Given the description of an element on the screen output the (x, y) to click on. 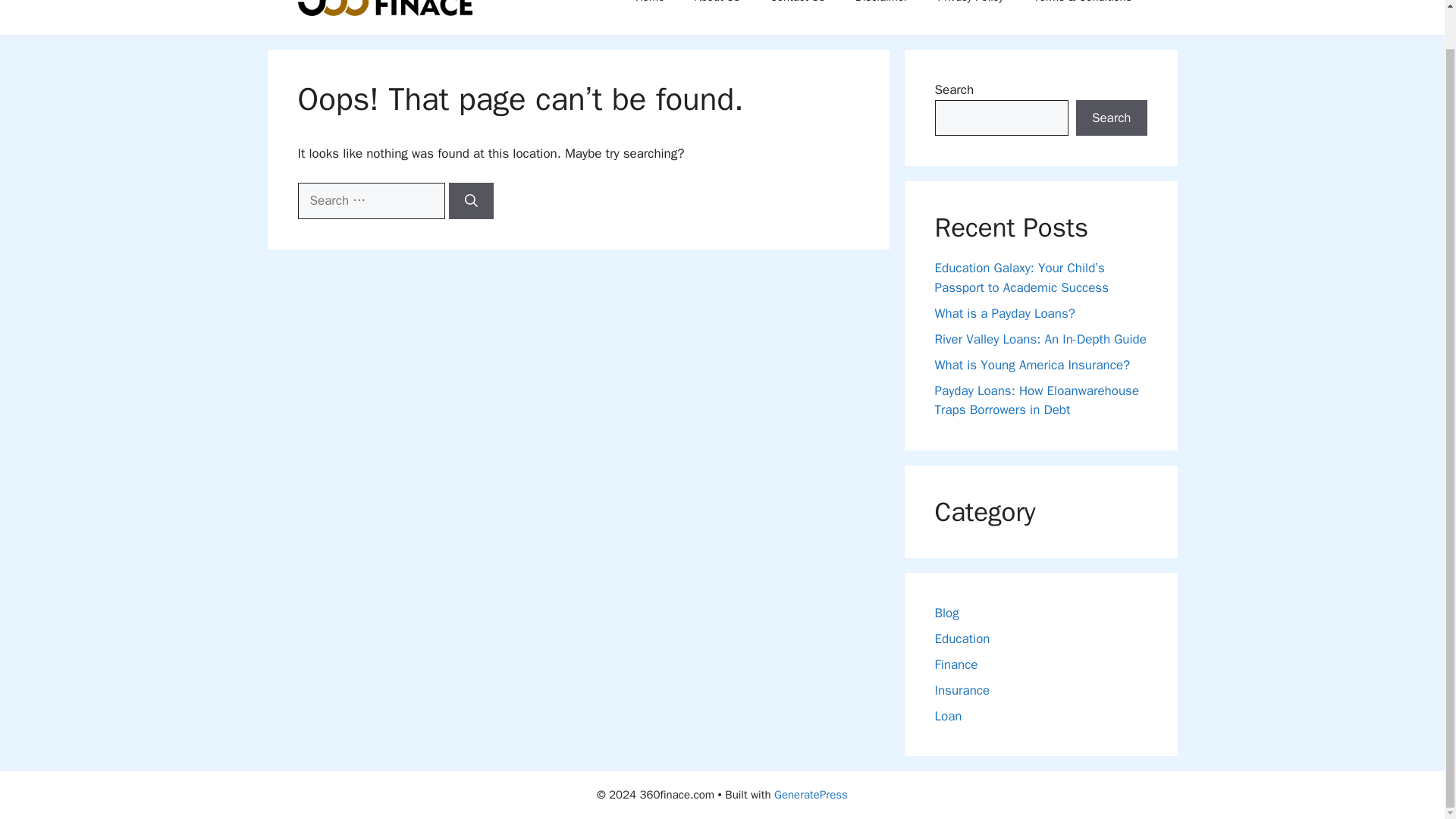
GeneratePress (810, 794)
Loan (947, 715)
Disclaimer (881, 9)
Insurance (962, 690)
Home (649, 9)
Payday Loans: How Eloanwarehouse Traps Borrowers in Debt (1036, 399)
Search for: (370, 200)
Privacy Policy (971, 9)
Finance (955, 664)
About Us (716, 9)
River Valley Loans: An In-Depth Guide (1039, 338)
Contact Us (797, 9)
What is Young America Insurance? (1031, 364)
Search (1111, 117)
What is a Payday Loans? (1004, 312)
